Given the description of an element on the screen output the (x, y) to click on. 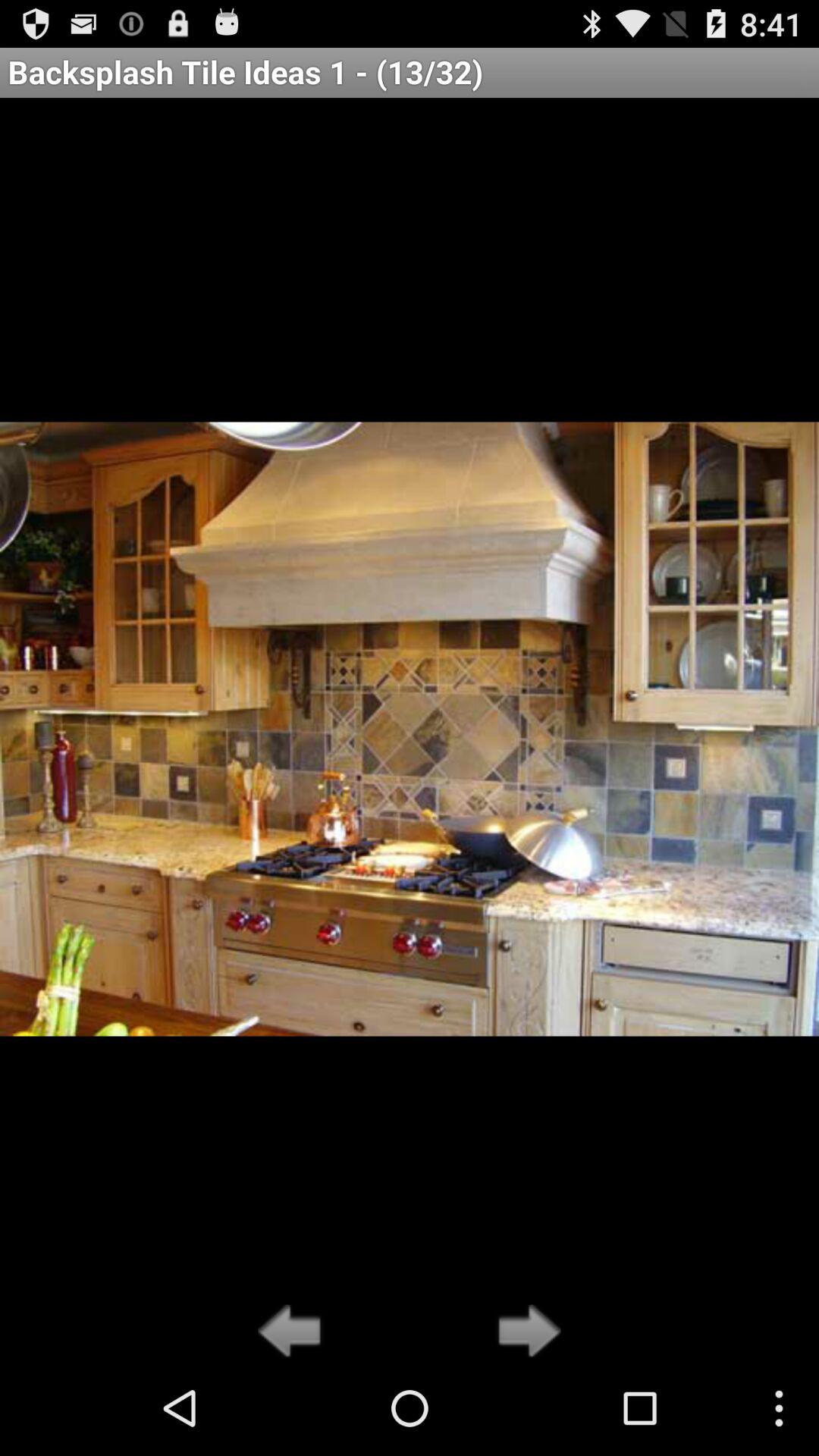
select item below backsplash tile ideas app (524, 1332)
